Given the description of an element on the screen output the (x, y) to click on. 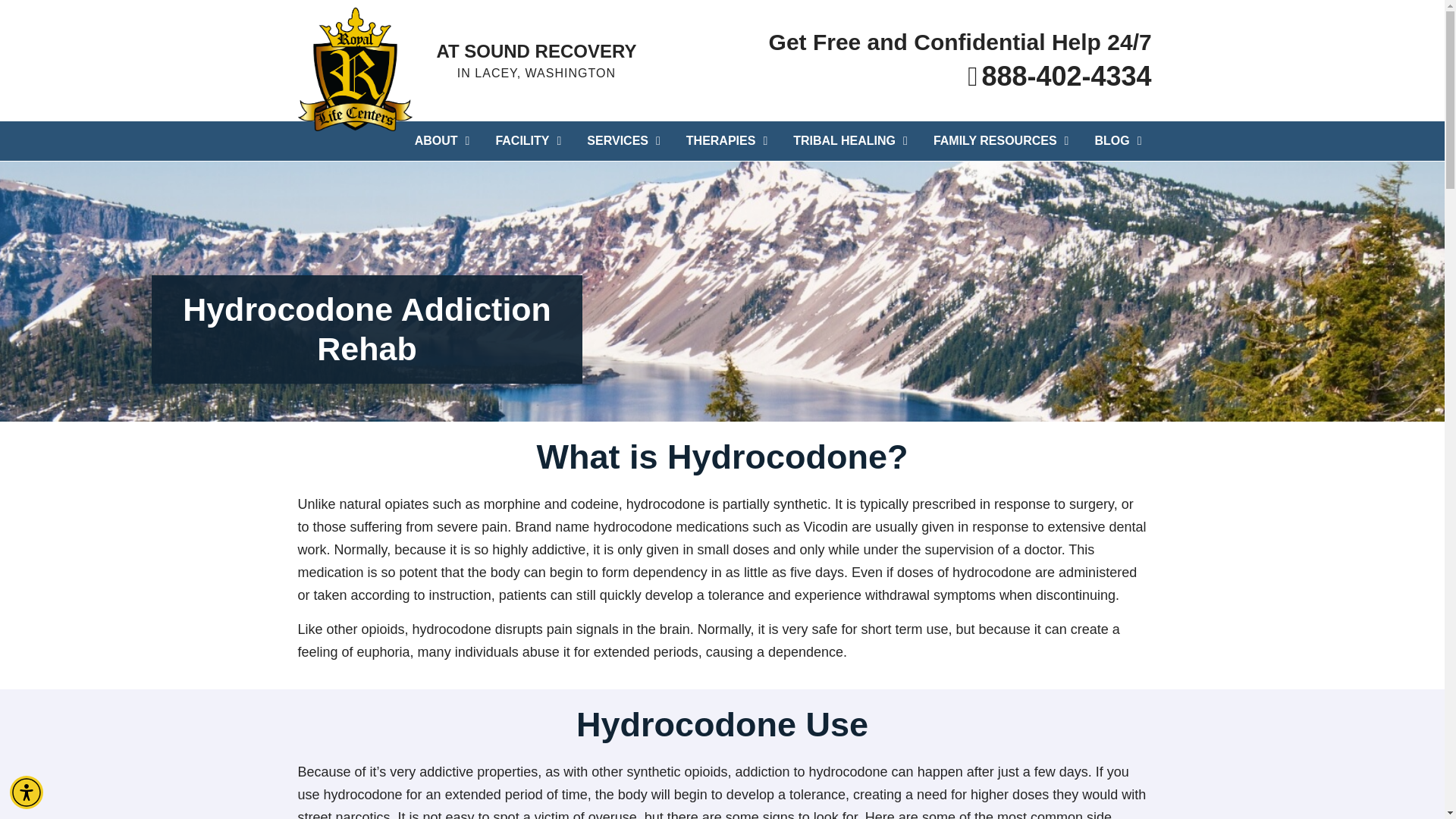
SERVICES (622, 140)
ABOUT (442, 140)
Accessibility Menu (26, 792)
THERAPIES (726, 140)
FACILITY (527, 140)
888-402-4334 (901, 75)
